Given the description of an element on the screen output the (x, y) to click on. 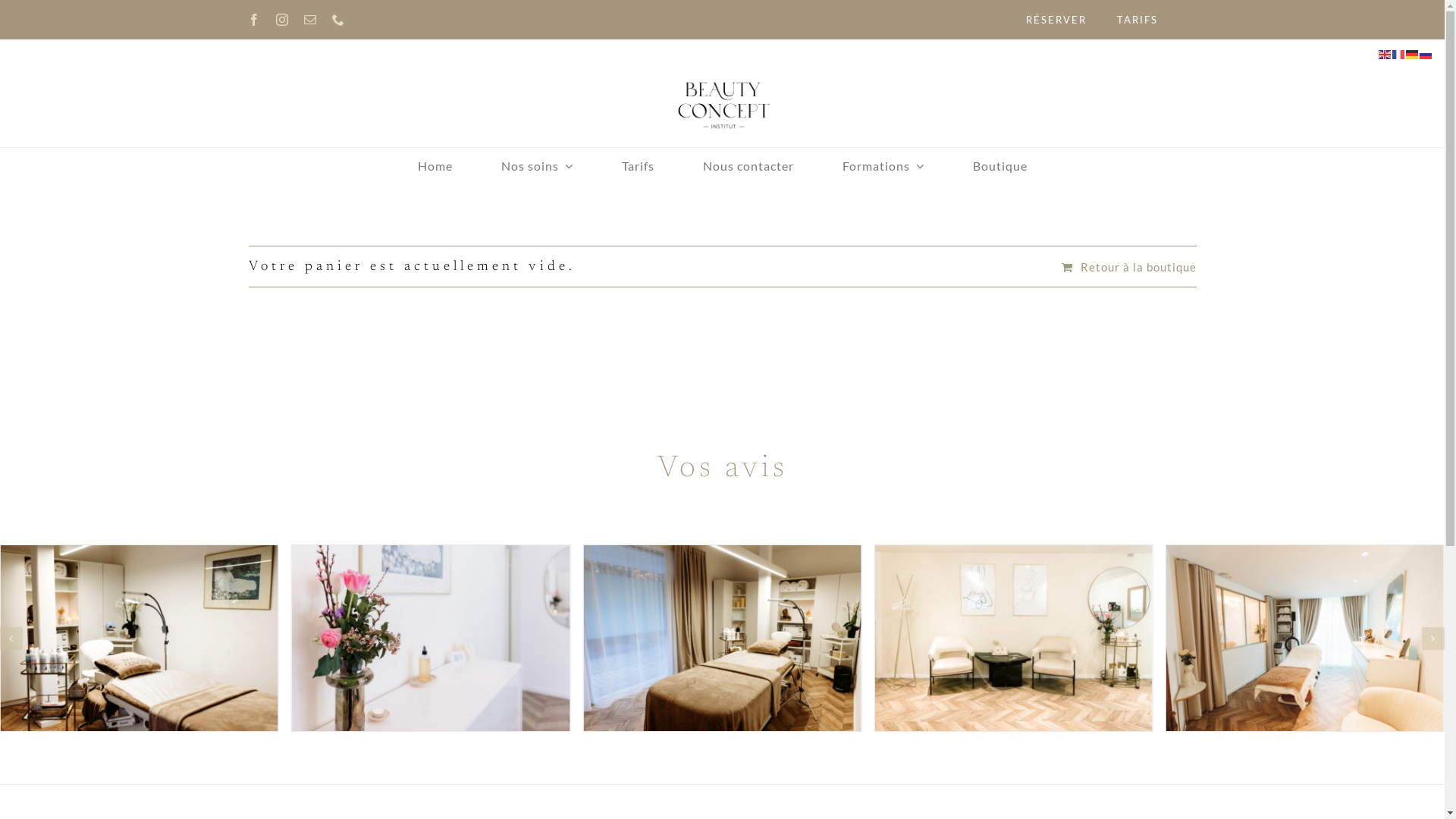
Facebook Element type: hover (253, 19)
Tarifs Element type: text (637, 165)
Home Element type: text (434, 165)
Email Element type: hover (310, 19)
Formations Element type: text (882, 165)
English Element type: hover (1385, 52)
Nous contacter Element type: text (747, 165)
Deutsch Element type: hover (1412, 52)
TARIFS Element type: text (1137, 19)
Instagram Element type: hover (282, 19)
Boutique Element type: text (999, 165)
Nos soins Element type: text (536, 165)
